Given the description of an element on the screen output the (x, y) to click on. 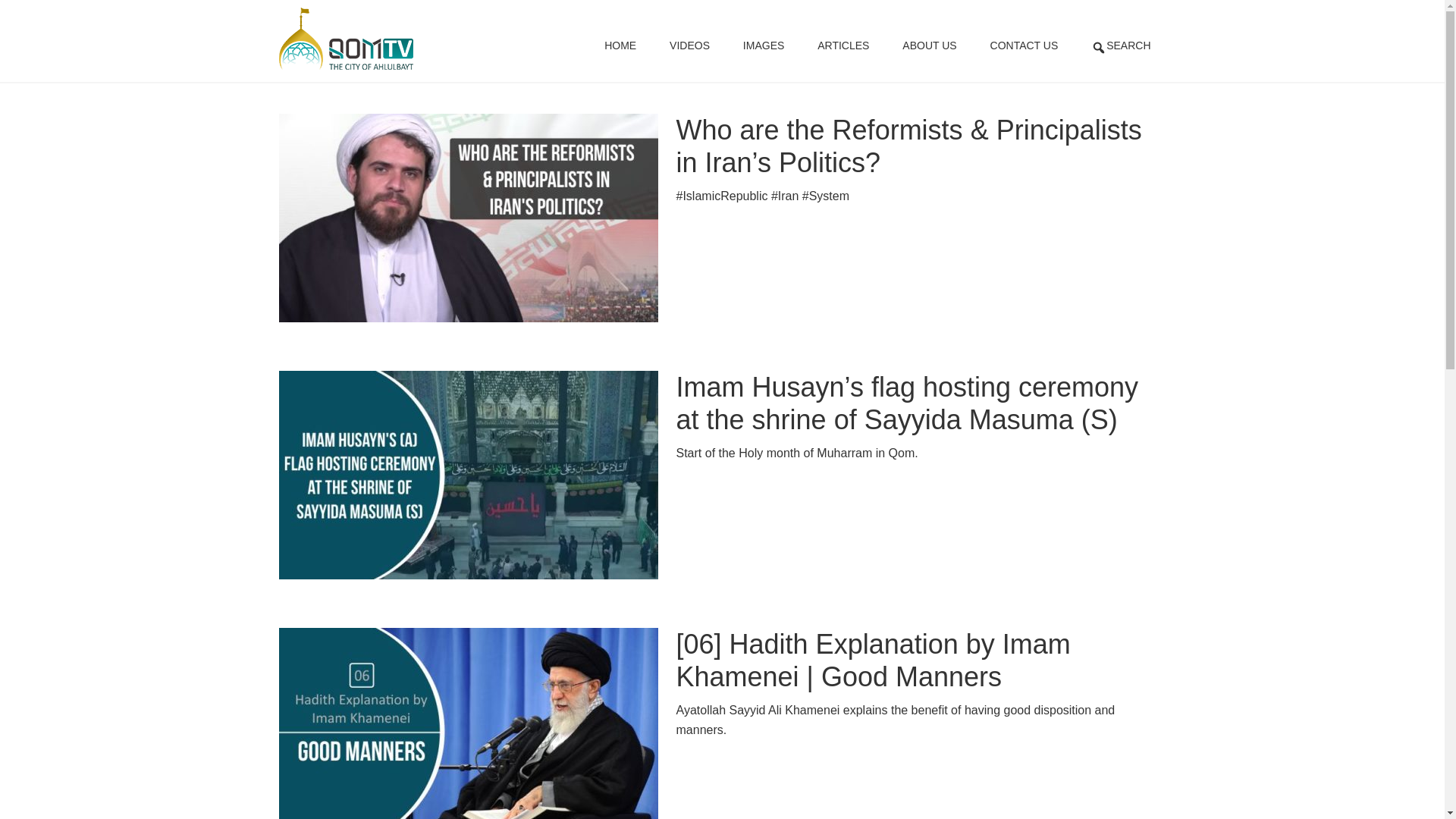
ABOUT US (928, 38)
VIDEOS (689, 38)
SEARCH (1120, 40)
QomTV (346, 38)
CONTACT US (1024, 38)
IMAGES (763, 38)
ARTICLES (842, 38)
